Given the description of an element on the screen output the (x, y) to click on. 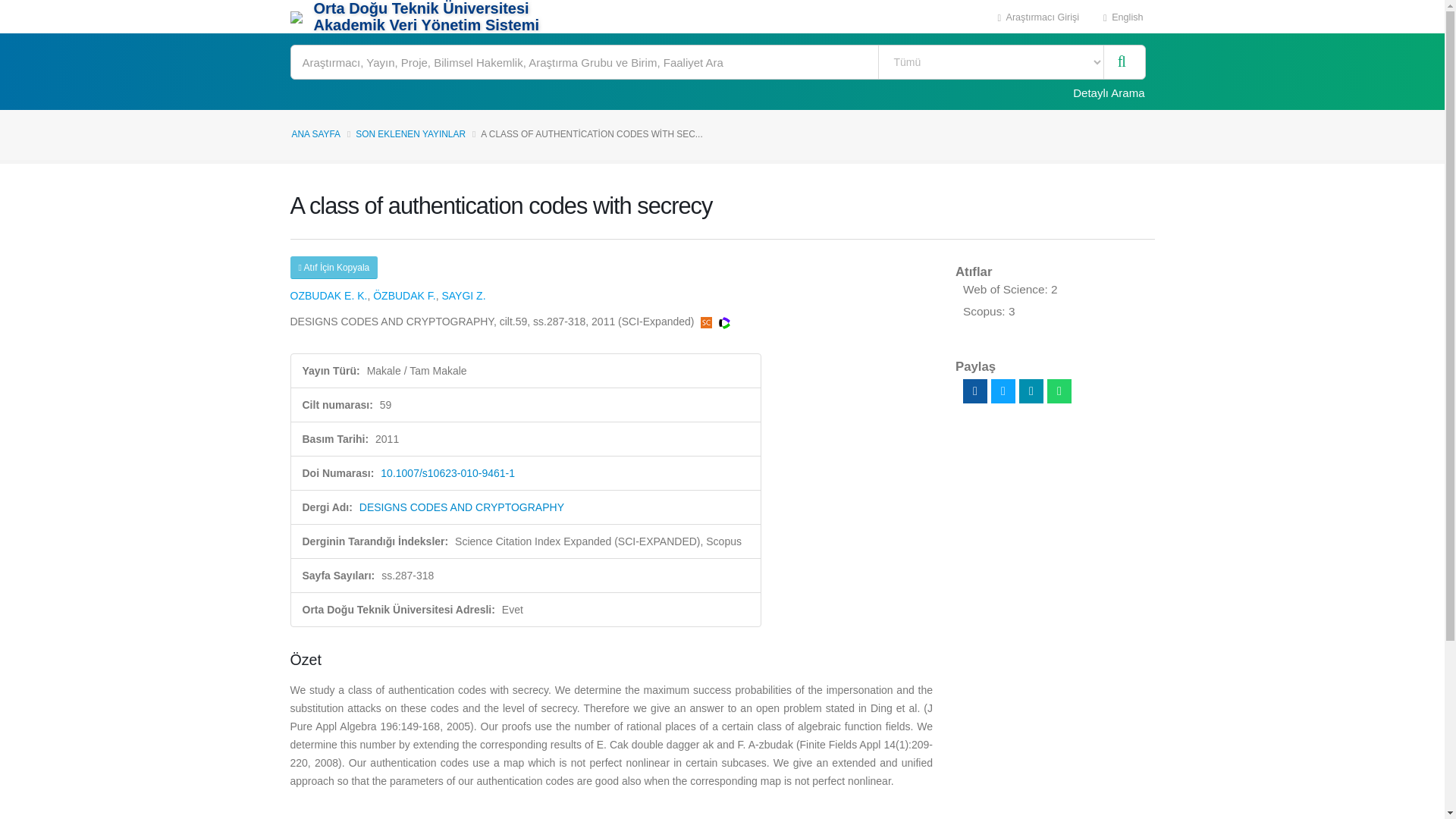
English (1123, 17)
DESIGNS CODES AND CRYPTOGRAPHY (461, 507)
SAYGI Z. (462, 295)
ANA SAYFA (315, 133)
OZBUDAK E. K. (327, 295)
SON EKLENEN YAYINLAR (410, 133)
